Given the description of an element on the screen output the (x, y) to click on. 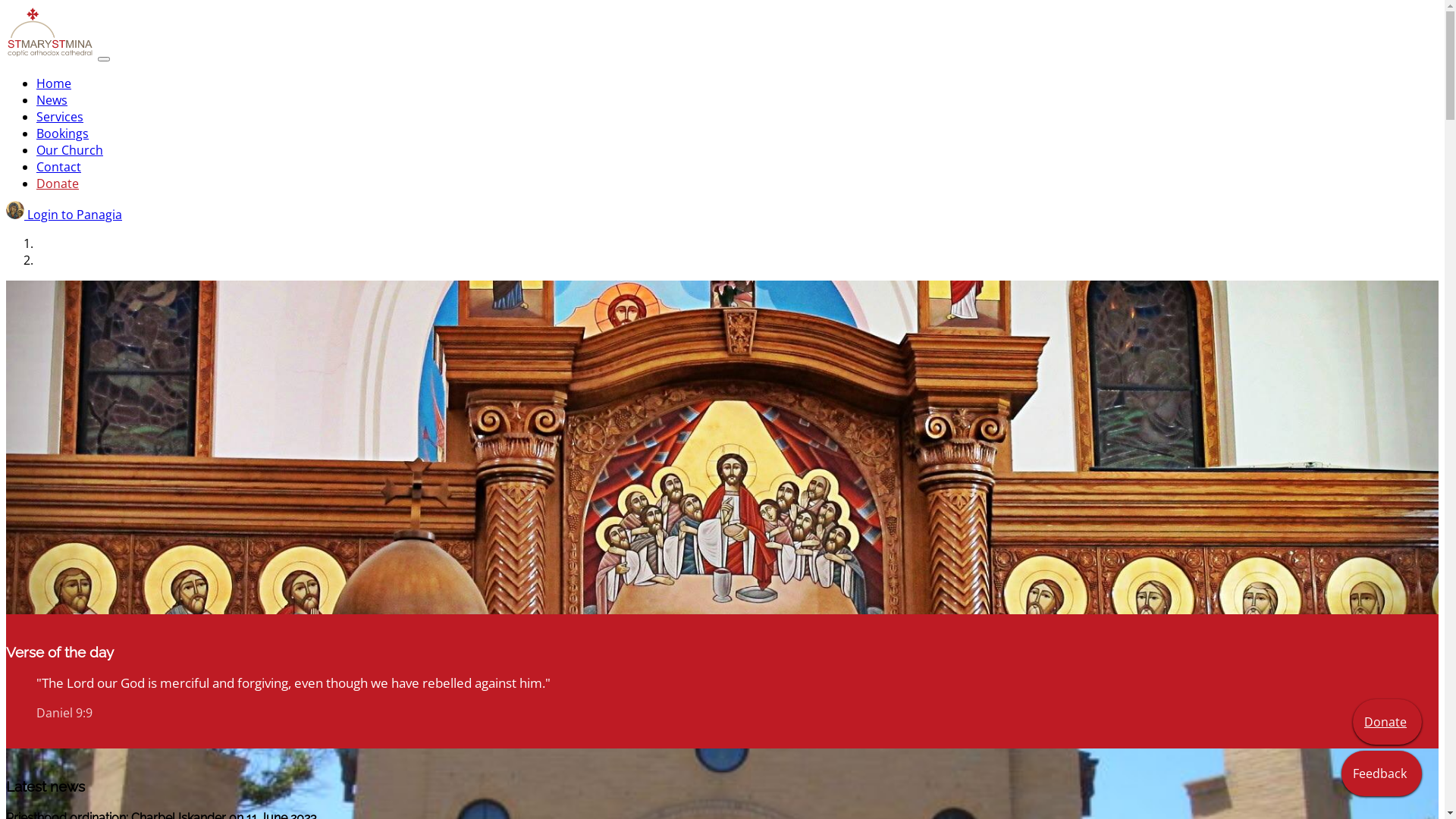
Donate Element type: text (57, 183)
Home Element type: text (53, 83)
Login to Panagia Element type: text (64, 214)
Bookings Element type: text (62, 133)
Contact Element type: text (58, 166)
Donate Element type: text (1386, 721)
Our Church Element type: text (69, 149)
News Element type: text (51, 99)
Services Element type: text (59, 116)
